Given the description of an element on the screen output the (x, y) to click on. 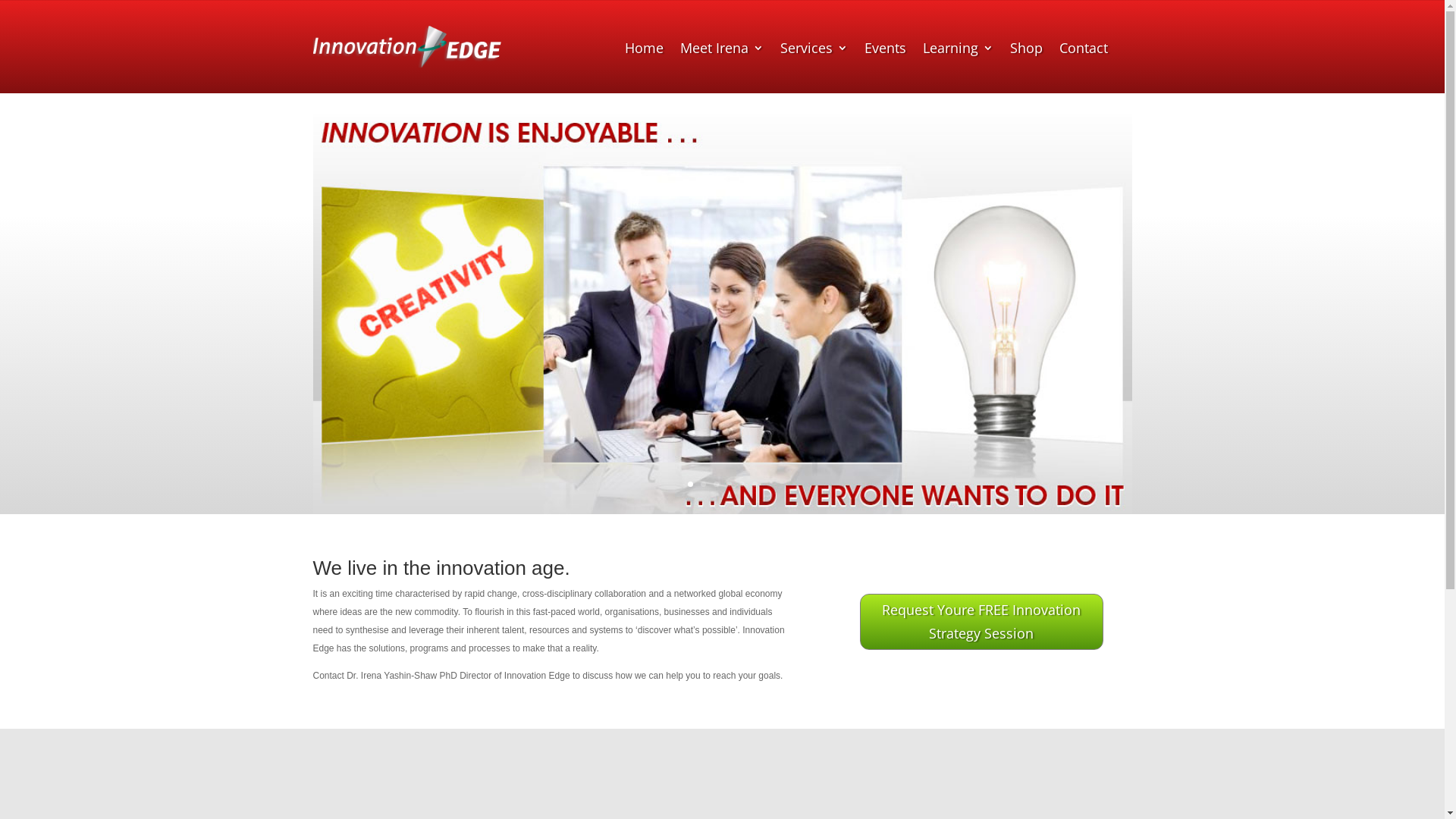
Contact Element type: text (1083, 50)
Events Element type: text (885, 50)
6 Element type: text (754, 483)
Request Youre FREE Innovation Strategy Session Element type: text (980, 621)
1 Element type: text (689, 483)
Home Element type: text (643, 50)
Shop Element type: text (1026, 50)
Services Element type: text (813, 50)
2 Element type: text (703, 483)
3 Element type: text (715, 483)
4 Element type: text (728, 483)
Learning Element type: text (957, 50)
5 Element type: text (740, 483)
Meet Irena Element type: text (721, 50)
